Given the description of an element on the screen output the (x, y) to click on. 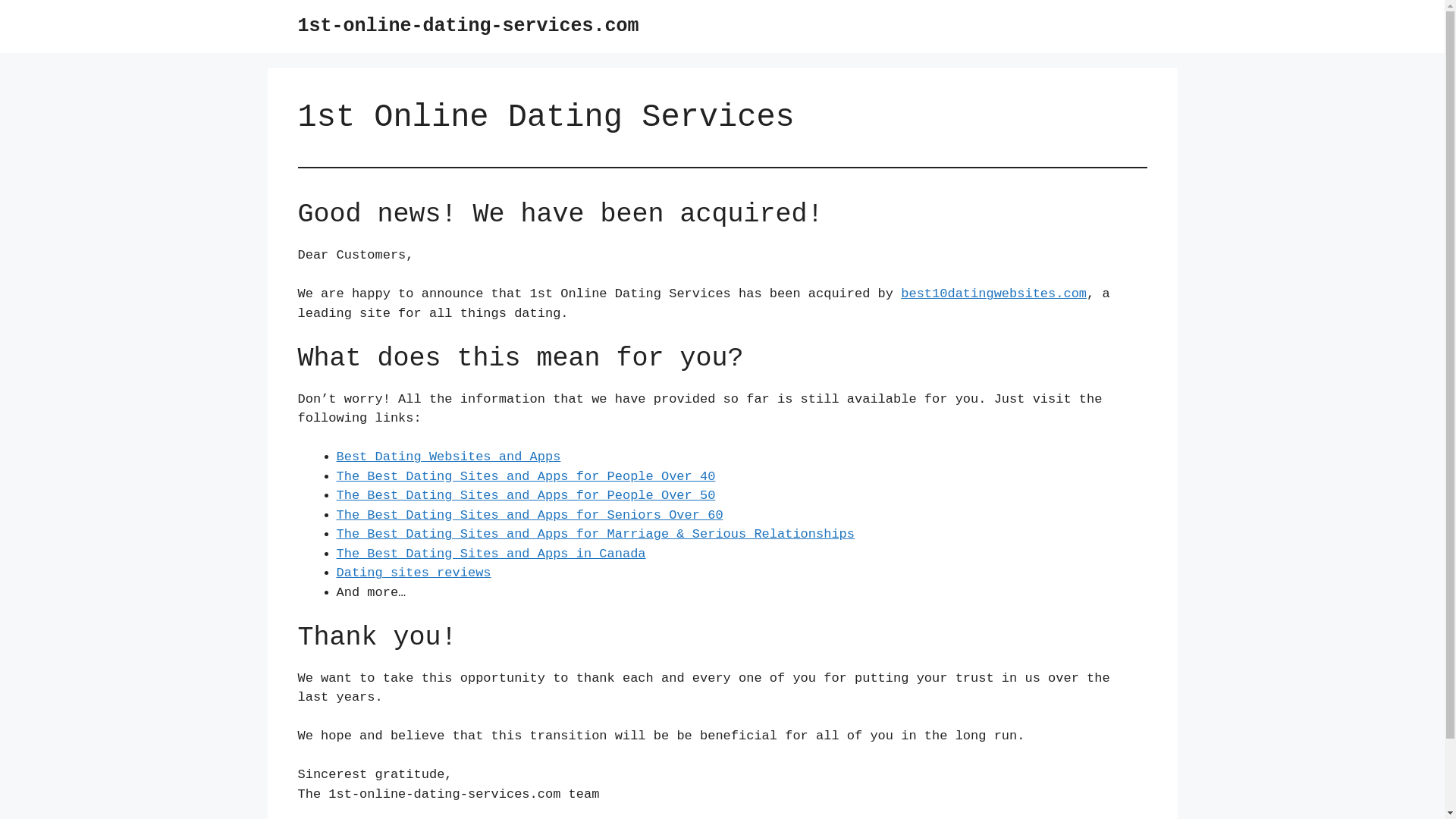
The Best Dating Sites and Apps for Seniors Over 60 Element type: text (529, 515)
Dating sites reviews Element type: text (413, 572)
1st-online-dating-services.com Element type: text (467, 26)
The Best Dating Sites and Apps for People Over 50 Element type: text (525, 495)
best10datingwebsites.com Element type: text (993, 293)
The Best Dating Sites and Apps for People Over 40 Element type: text (525, 476)
Best Dating Websites and Apps Element type: text (448, 456)
The Best Dating Sites and Apps in Canada Element type: text (491, 553)
